Given the description of an element on the screen output the (x, y) to click on. 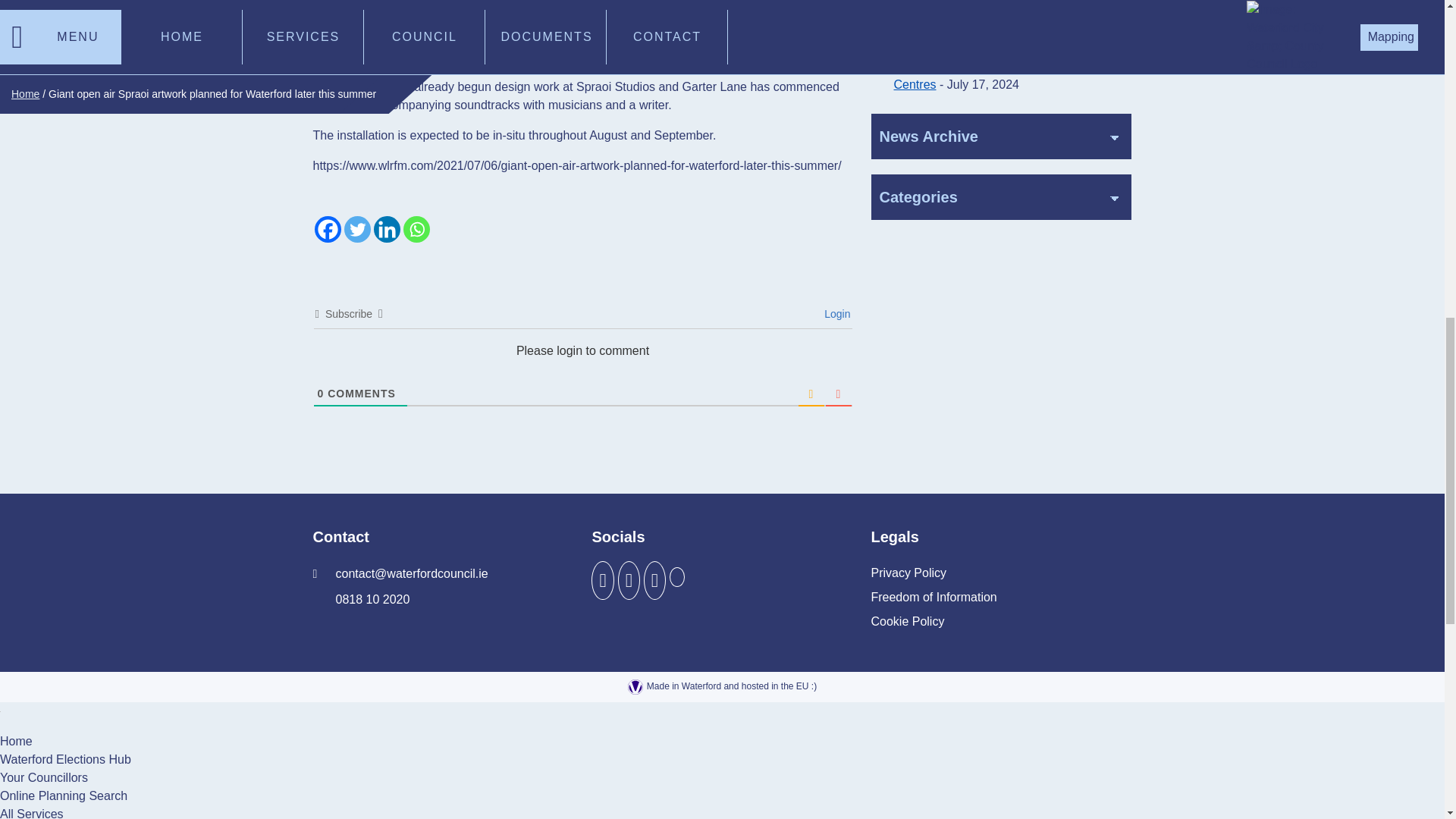
Privacy Policy (908, 573)
Whatsapp (416, 229)
Facebook (327, 229)
Login (834, 313)
Public Notice: Playground Repairs (985, 5)
0818 10 2020 (361, 599)
Twitter (357, 229)
Cookie Policy (906, 621)
Linkedin (385, 229)
Freedom of Information (932, 597)
